Given the description of an element on the screen output the (x, y) to click on. 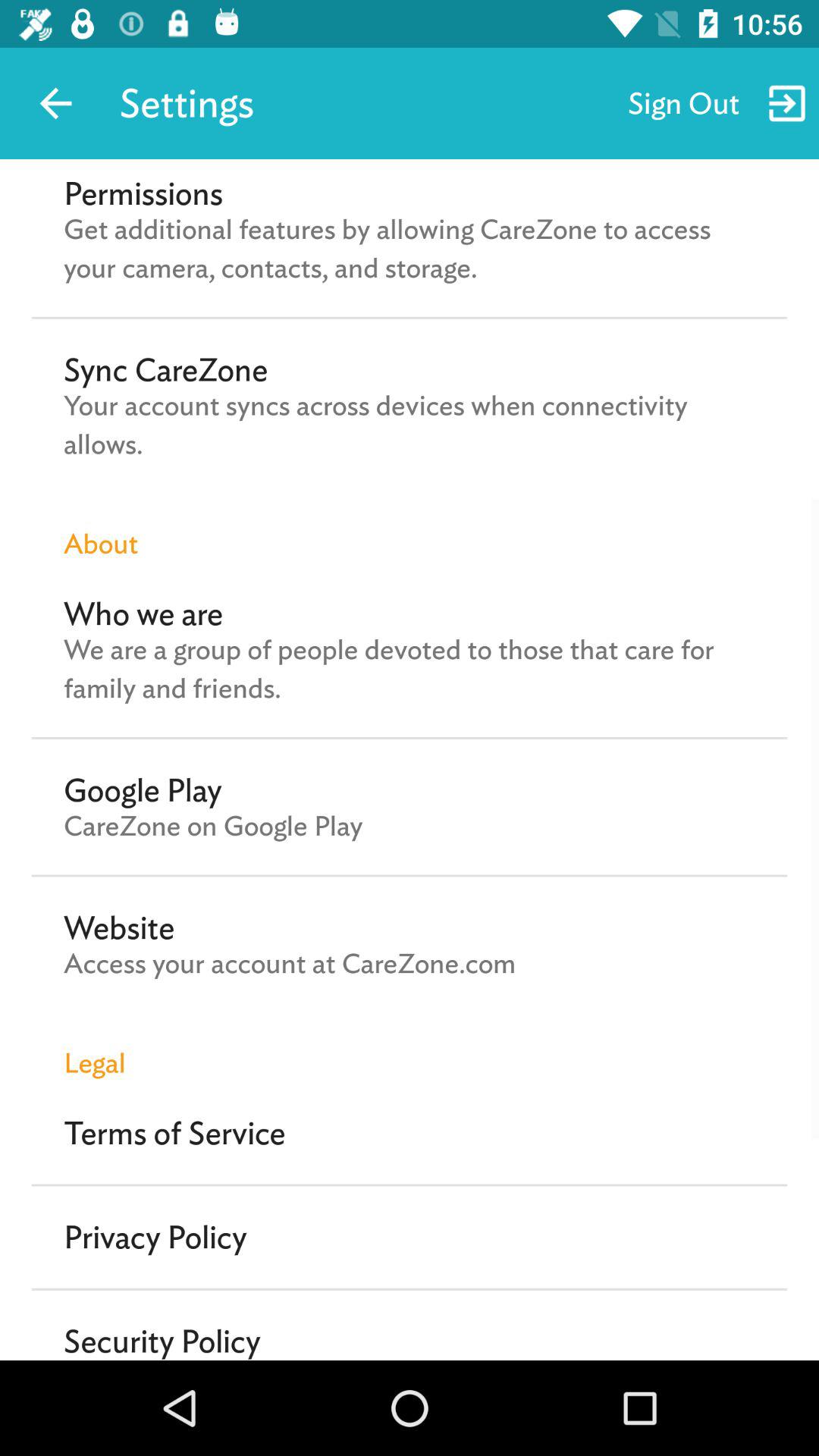
swipe to the legal (409, 1047)
